Given the description of an element on the screen output the (x, y) to click on. 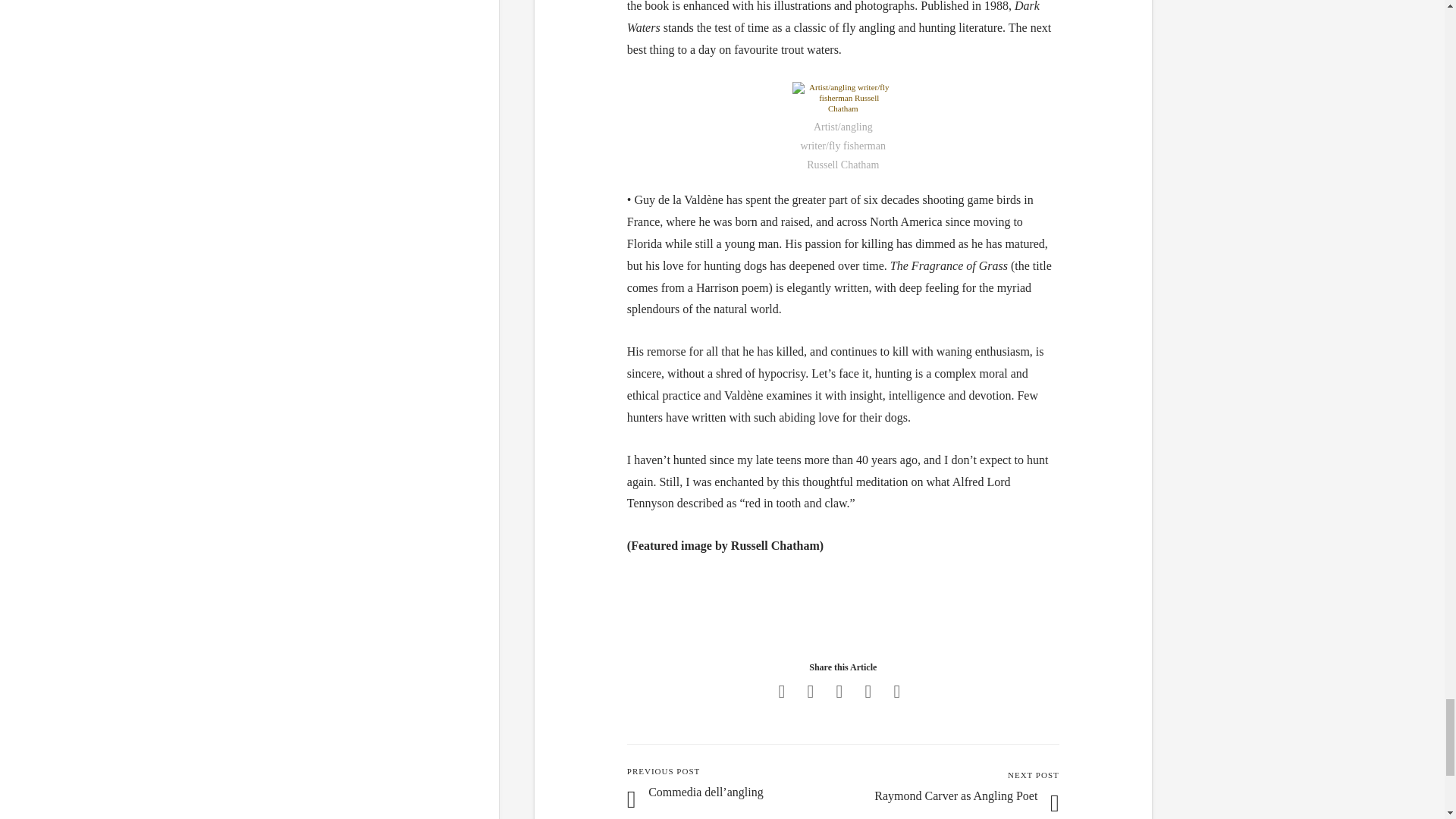
Raymond Carver as Angling Poet (955, 795)
Raymond Carver as Angling Poet (955, 795)
